Given the description of an element on the screen output the (x, y) to click on. 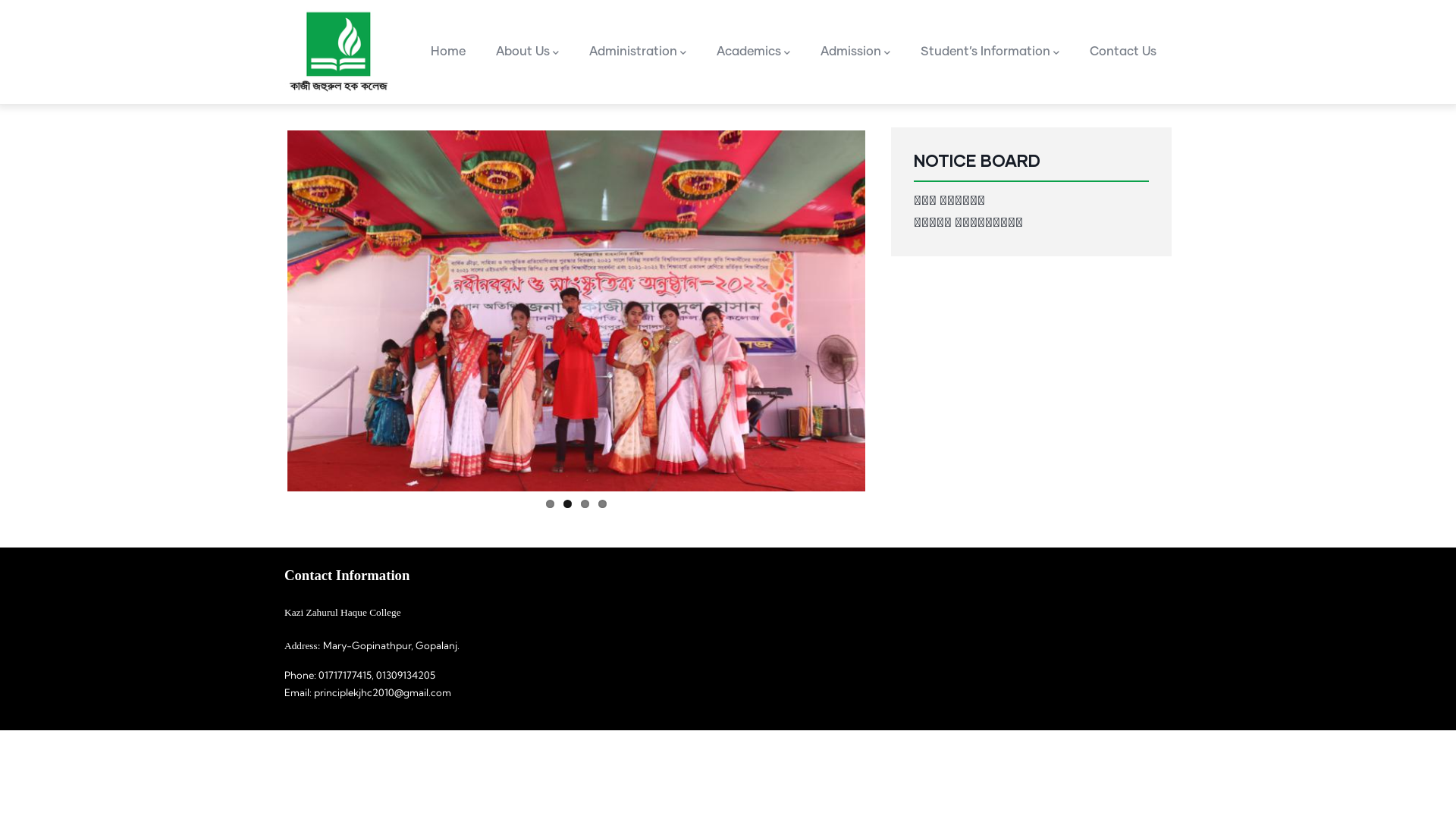
Contact Us Element type: text (1123, 51)
4 Element type: text (602, 503)
Administration Element type: text (637, 51)
Home Element type: hover (337, 51)
2 Element type: text (567, 503)
Admission Element type: text (854, 51)
Academics Element type: text (752, 51)
About Us Element type: text (527, 51)
3 Element type: text (584, 503)
principlekjhc2010@gmail.com Element type: text (382, 691)
Home Element type: text (448, 51)
1 Element type: text (550, 503)
